Given the description of an element on the screen output the (x, y) to click on. 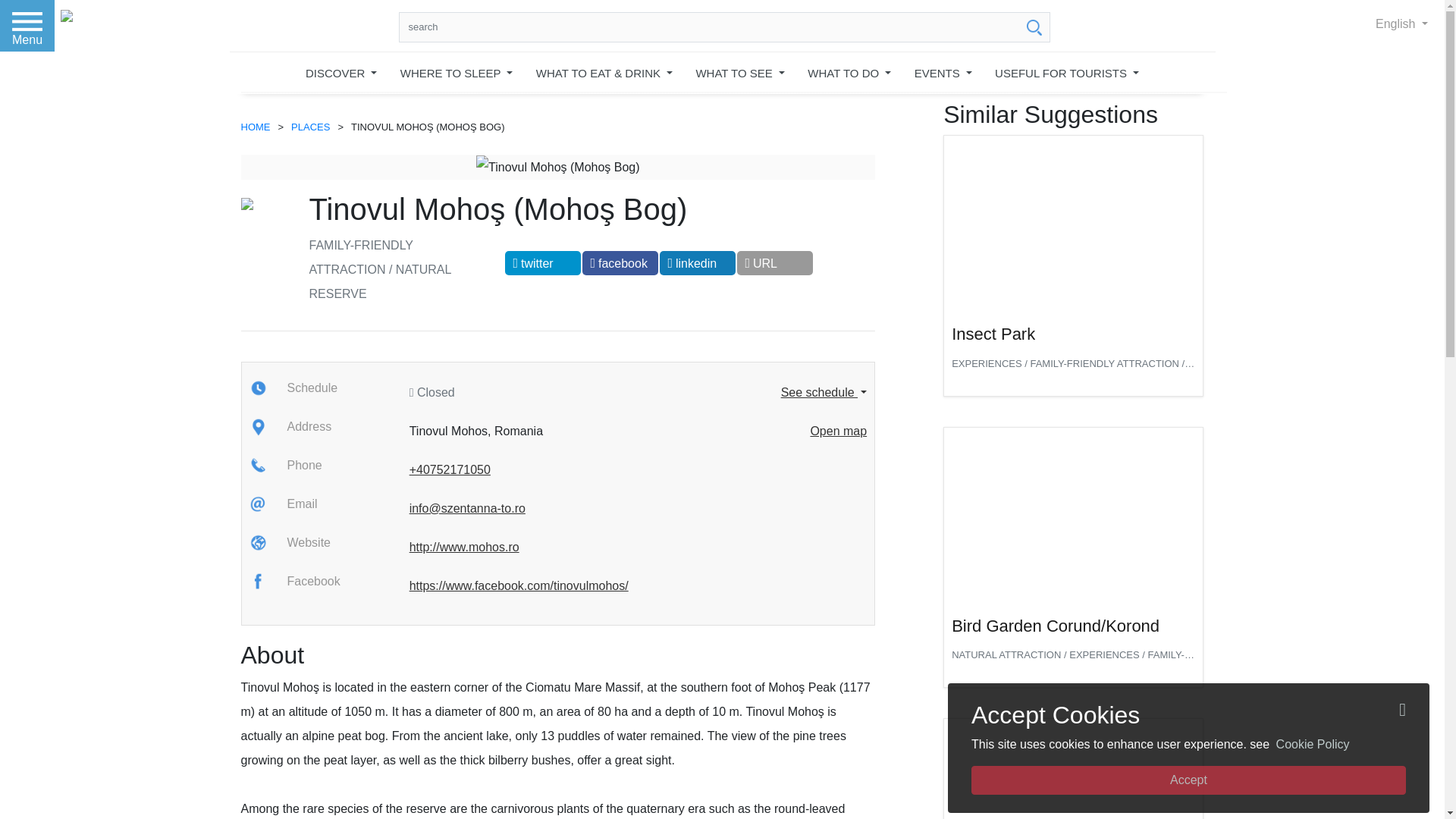
Share to Linkedin (697, 262)
Share to Twitter (542, 262)
Share URL (774, 262)
Menu (27, 25)
Share to Facebook (620, 262)
